Given the description of an element on the screen output the (x, y) to click on. 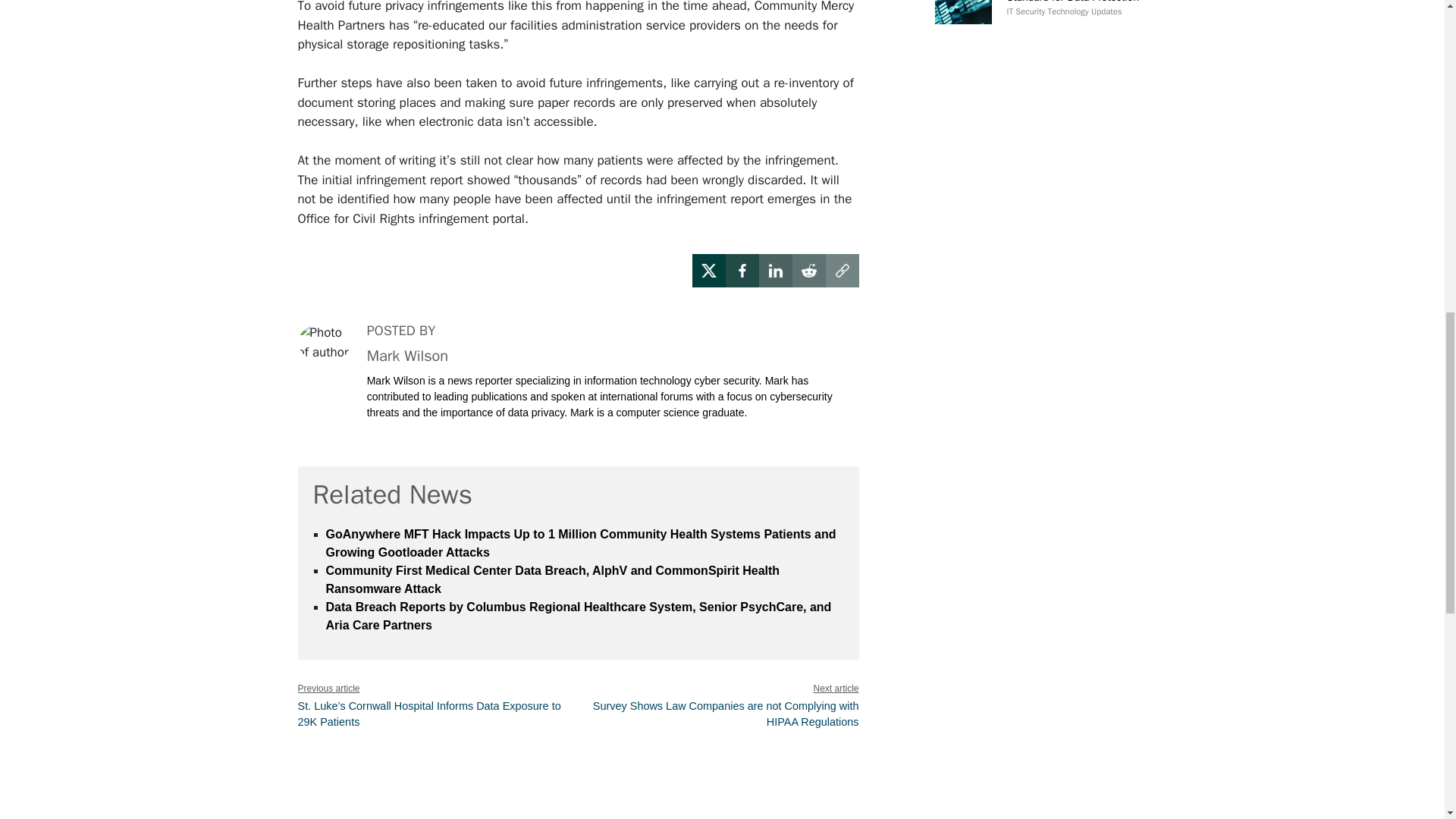
Previous (428, 714)
Mark Wilson (407, 355)
Next (725, 714)
